Given the description of an element on the screen output the (x, y) to click on. 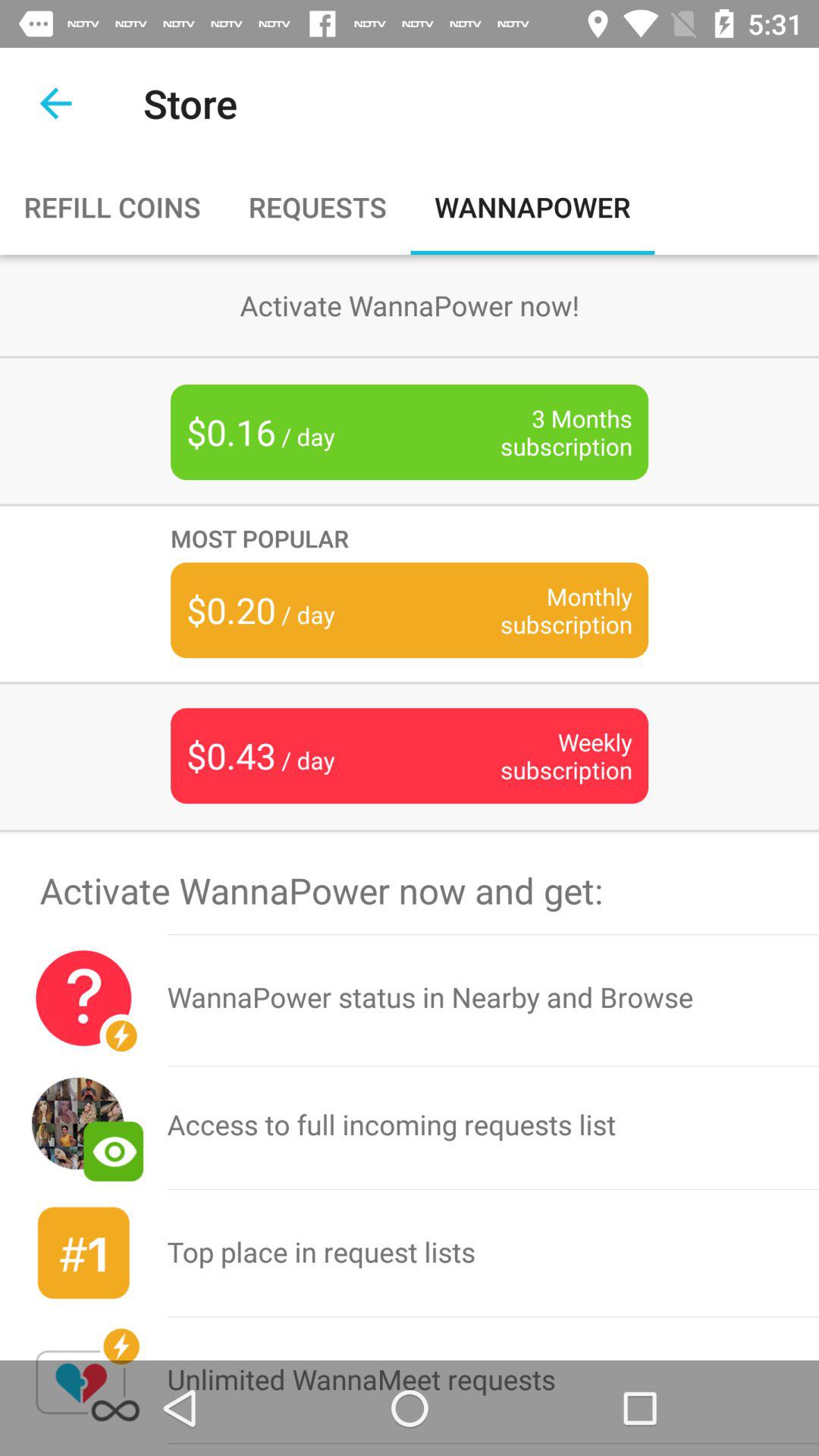
go back (55, 103)
